Given the description of an element on the screen output the (x, y) to click on. 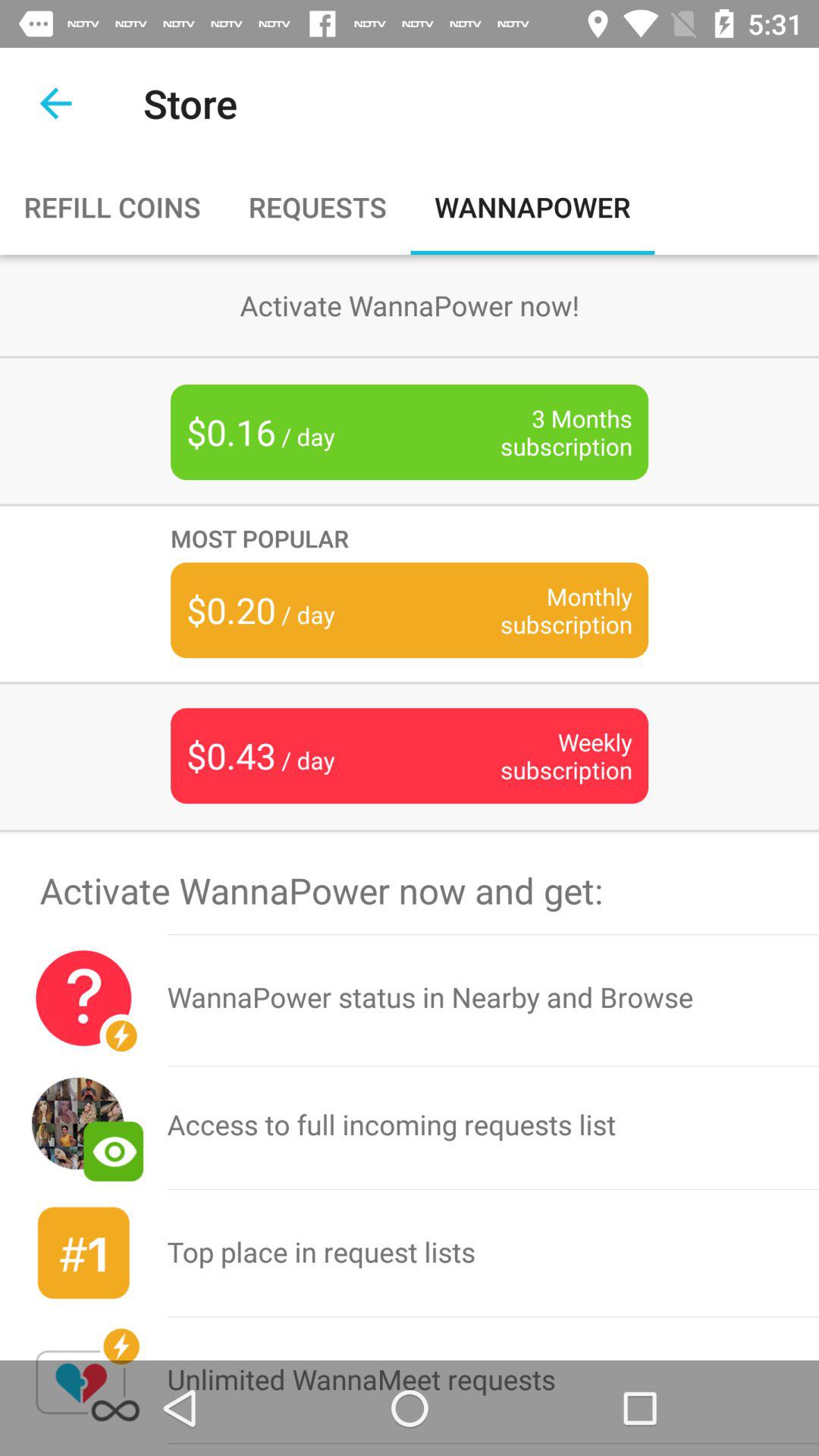
go back (55, 103)
